Given the description of an element on the screen output the (x, y) to click on. 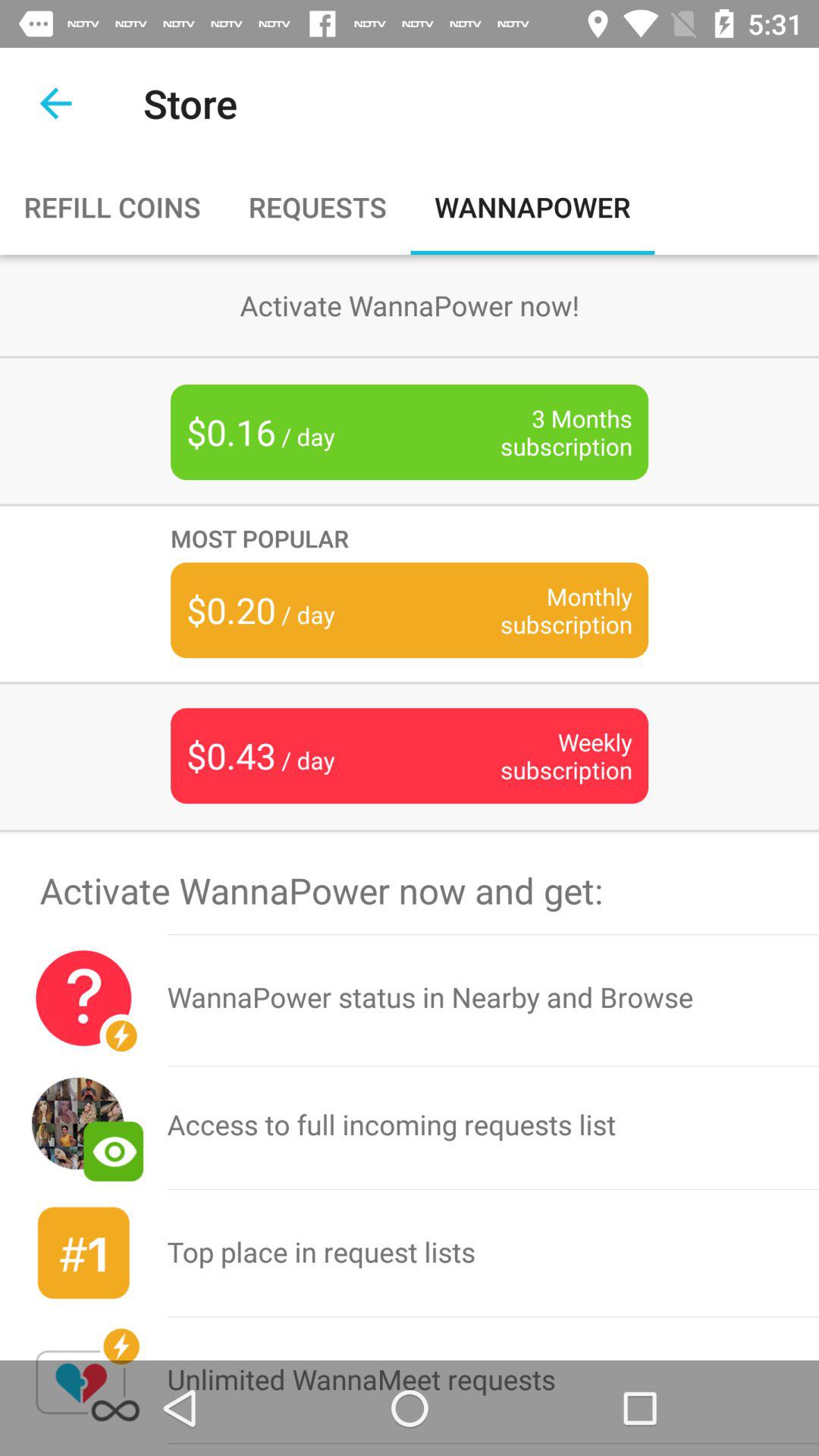
go back (55, 103)
